Given the description of an element on the screen output the (x, y) to click on. 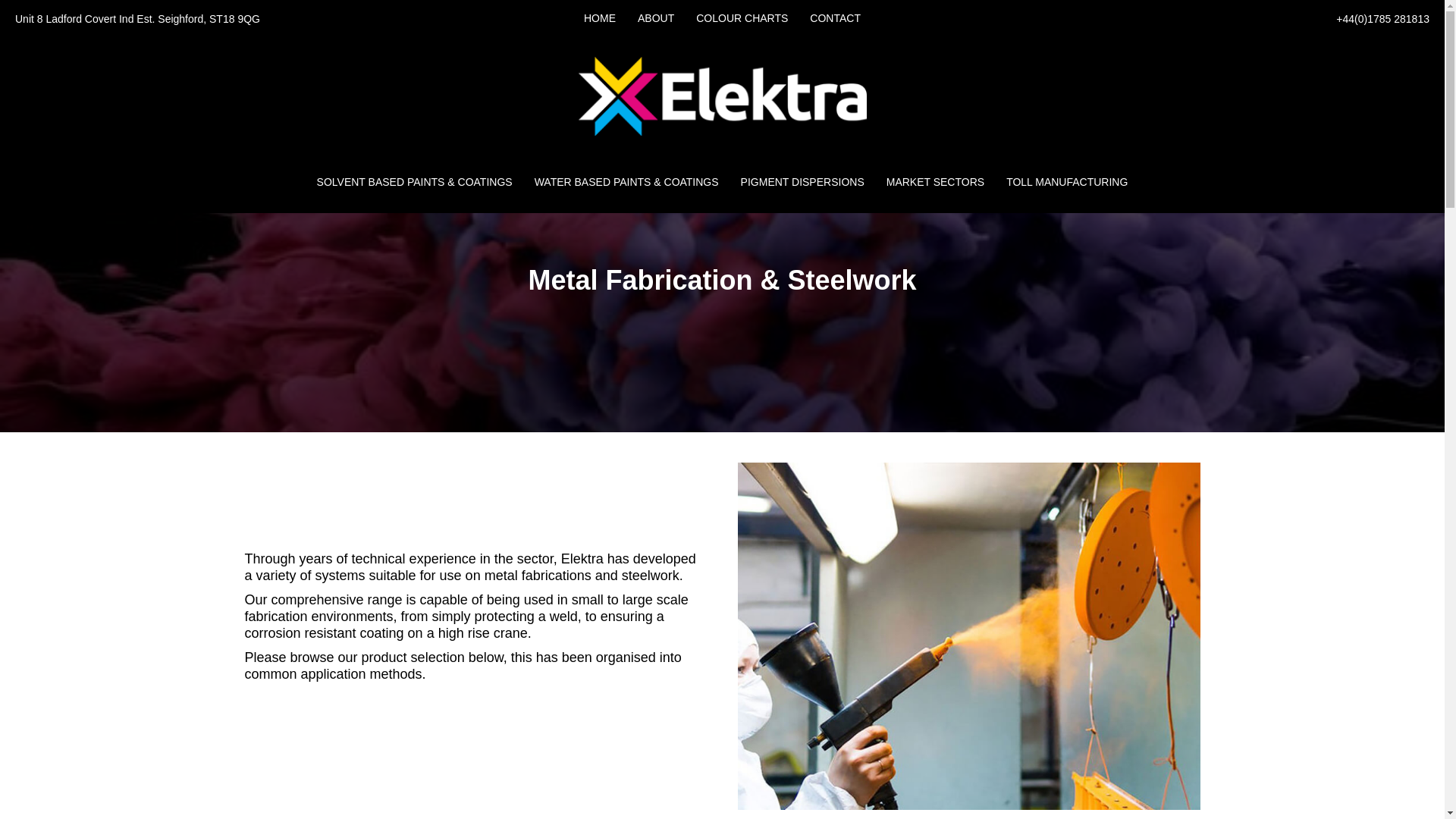
MARKET SECTORS (935, 182)
TOLL MANUFACTURING (1066, 182)
PIGMENT DISPERSIONS (802, 182)
COLOUR CHARTS (741, 18)
CONTACT (834, 18)
HOME (599, 18)
ABOUT (655, 18)
brand (722, 95)
